Given the description of an element on the screen output the (x, y) to click on. 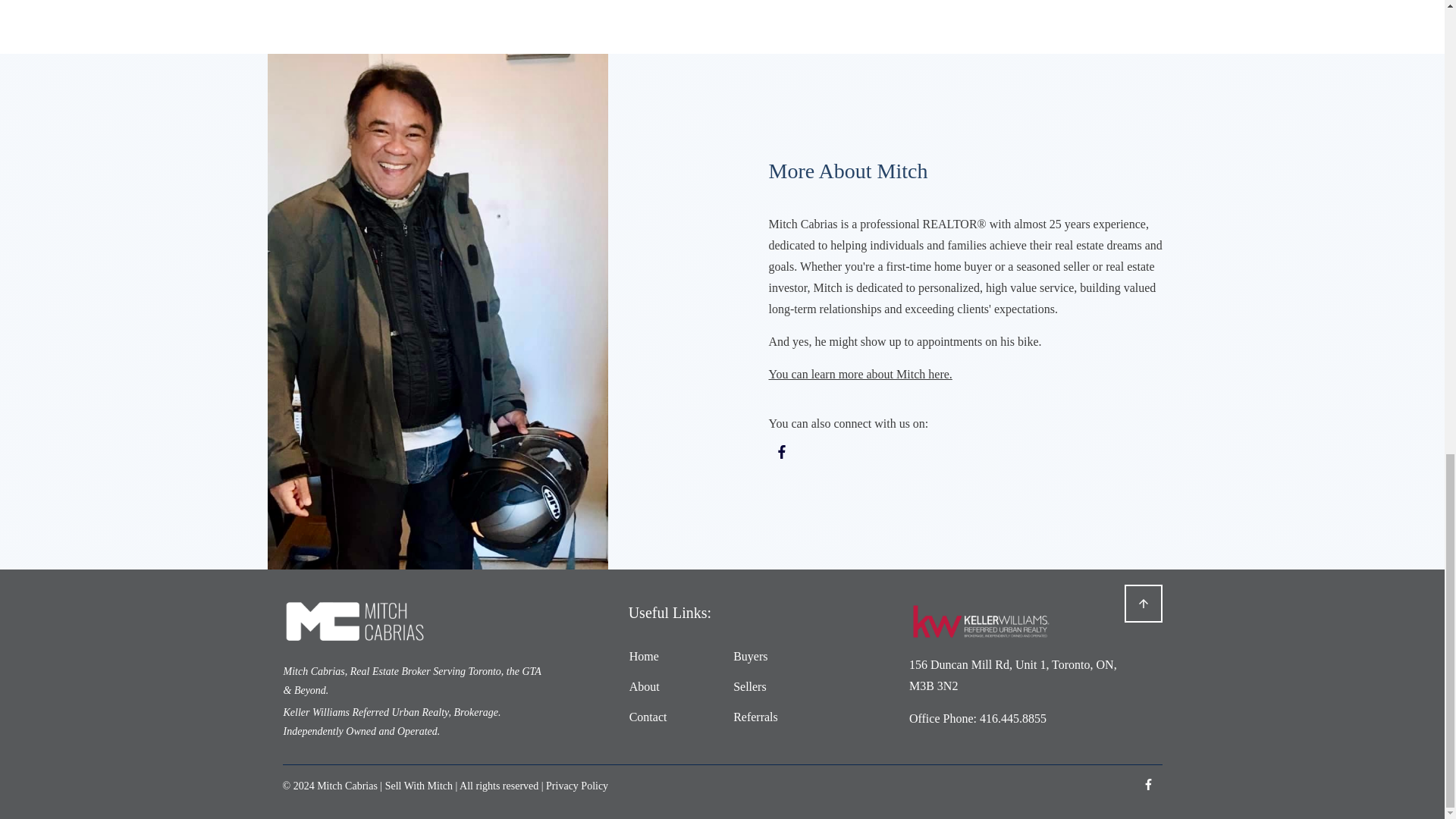
Home (643, 656)
Sellers (750, 686)
You can learn more about Mitch here. (860, 373)
About (643, 686)
Contact (647, 716)
Buyers (750, 656)
KW Real Estate Brokerage (980, 620)
Referrals (755, 716)
